Given the description of an element on the screen output the (x, y) to click on. 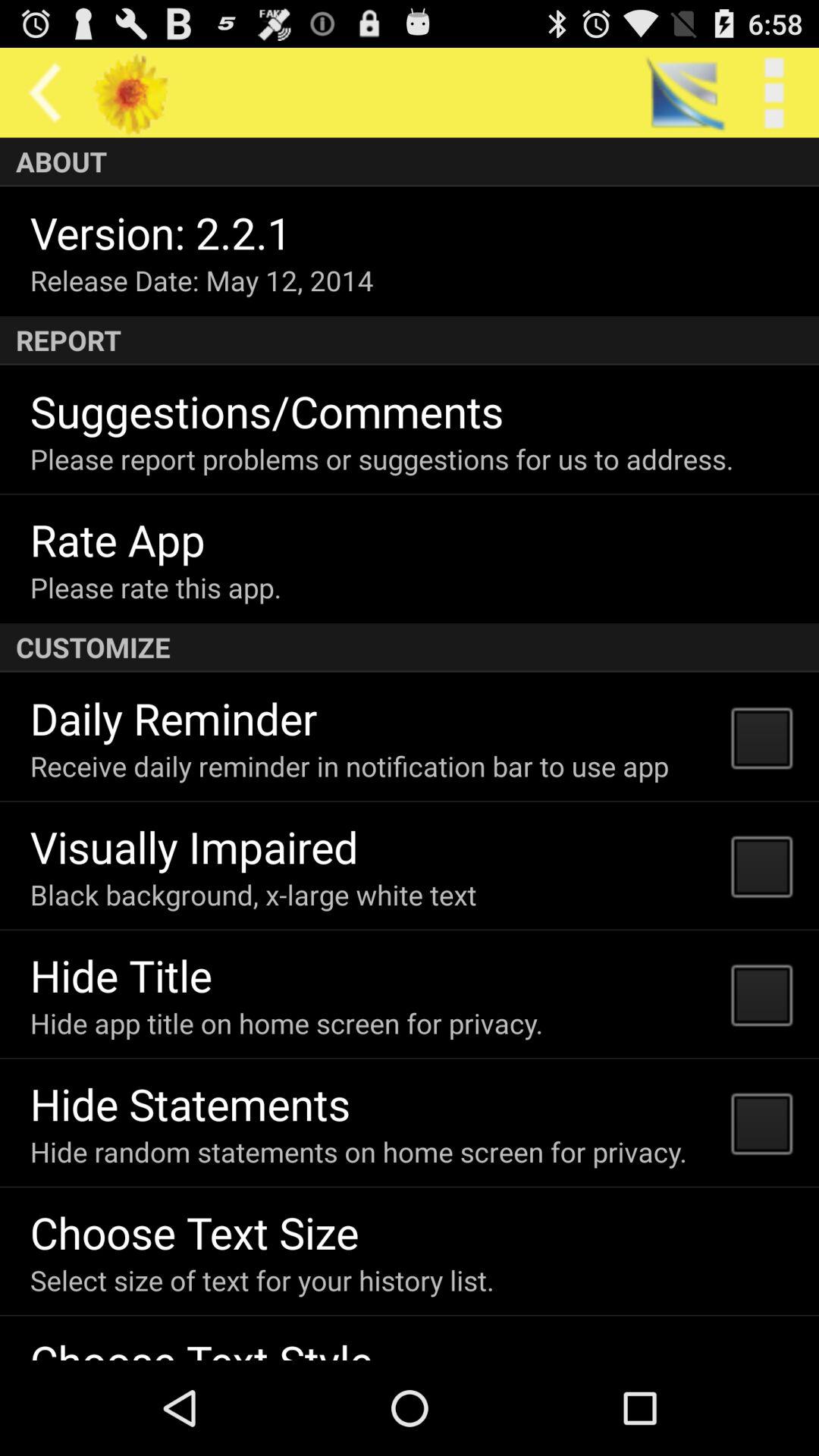
click version 2 2 icon (160, 232)
